Given the description of an element on the screen output the (x, y) to click on. 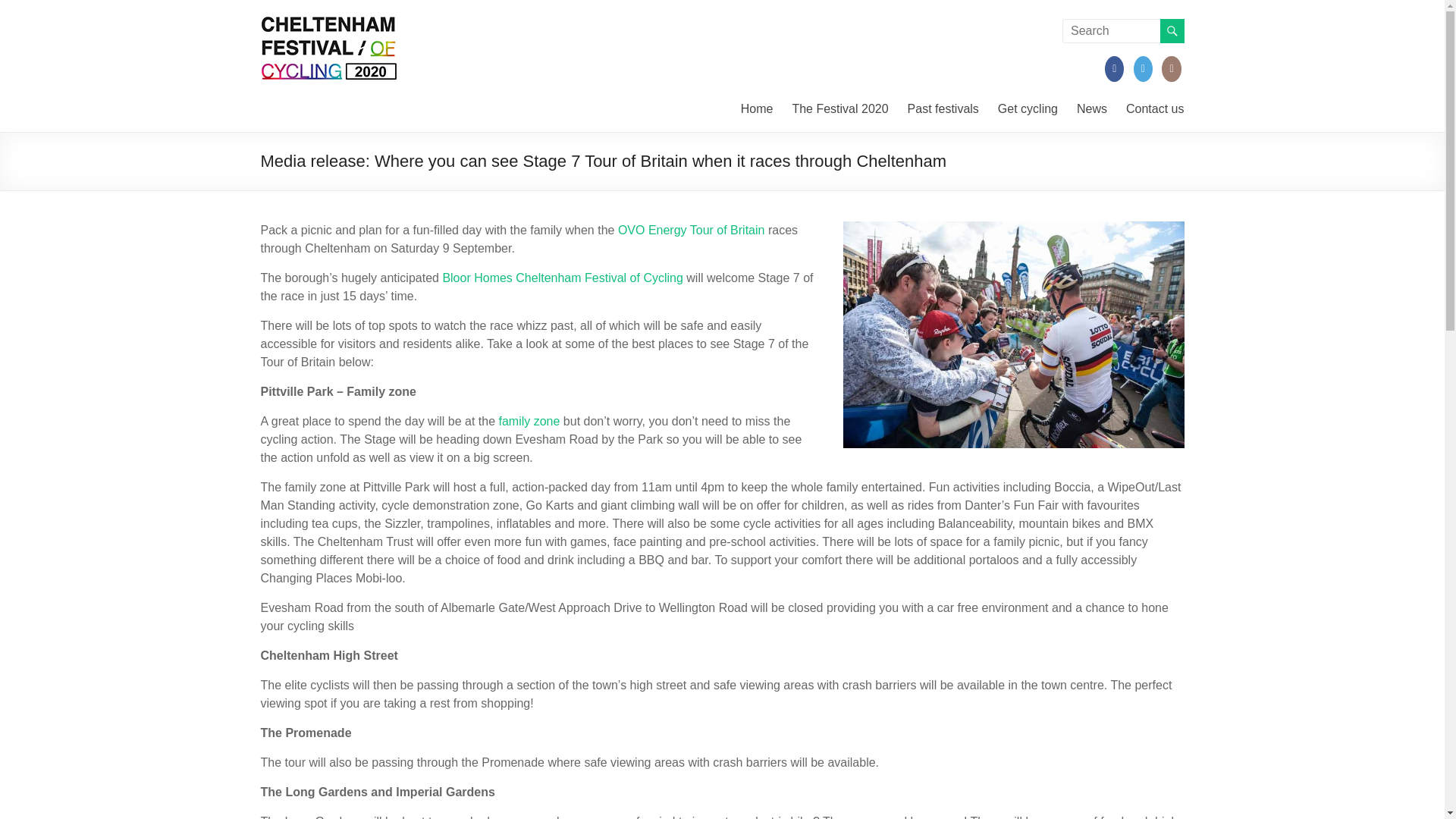
Home (757, 108)
Cheltenham Festival of Cycling (598, 277)
Contact us (1154, 108)
Bloor Homes (477, 277)
News (1091, 108)
The Festival 2020 (840, 108)
family zone (528, 420)
OVO Energy Tour of Britain (691, 229)
Get cycling (1027, 108)
Past festivals (942, 108)
